Given the description of an element on the screen output the (x, y) to click on. 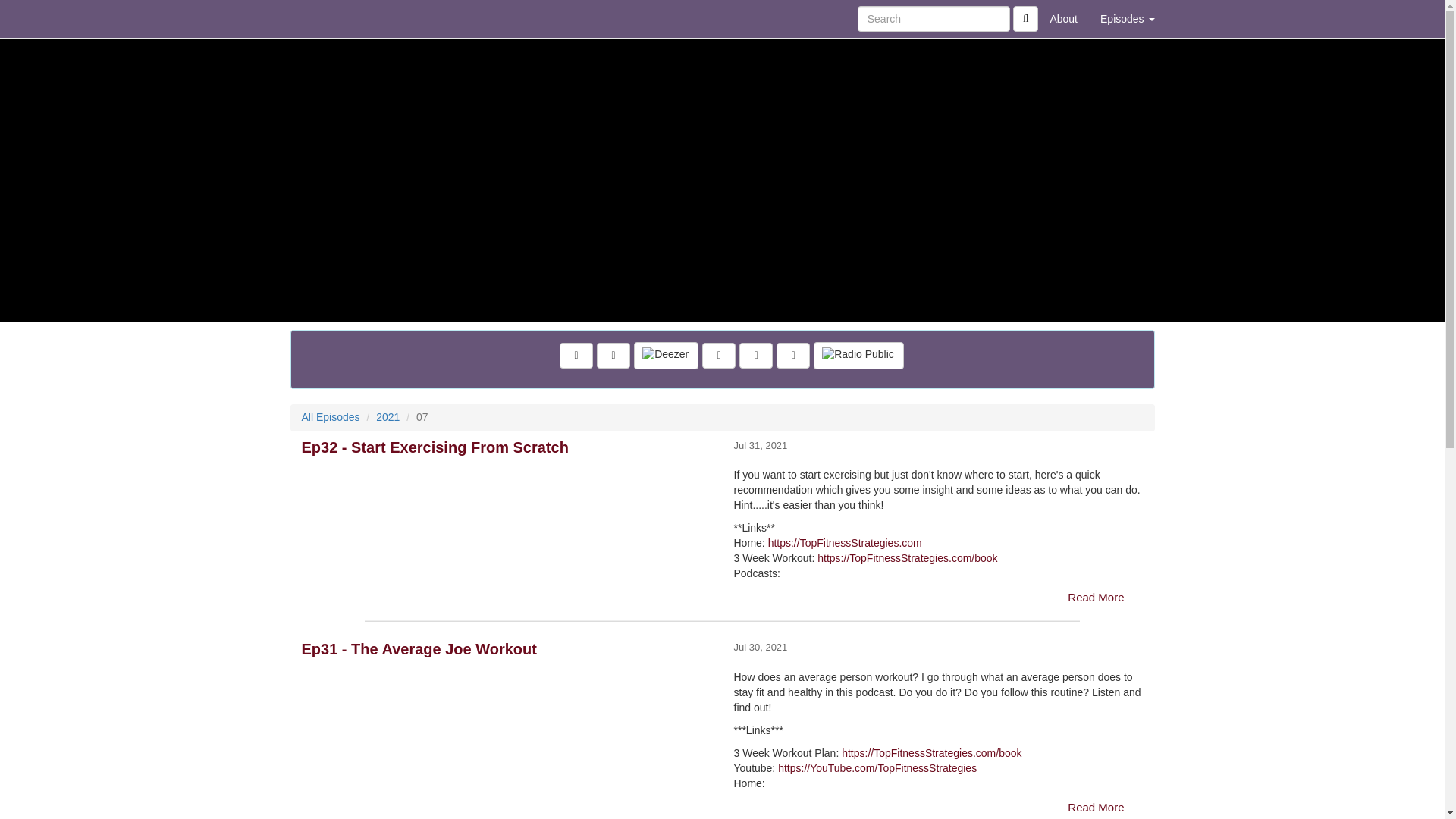
Home Page (320, 18)
Visit Us on Facebook (575, 355)
Listen on Deezer (665, 355)
Ep31 - The Average Joe Workout (506, 694)
Listen on Radio Public (858, 355)
Go To YouTube Channel (792, 355)
About (1063, 18)
Listen on Apple Podcasts (718, 355)
Ep32 - Start Exercising From Scratch (506, 493)
Listen on Spotify (756, 355)
